Given the description of an element on the screen output the (x, y) to click on. 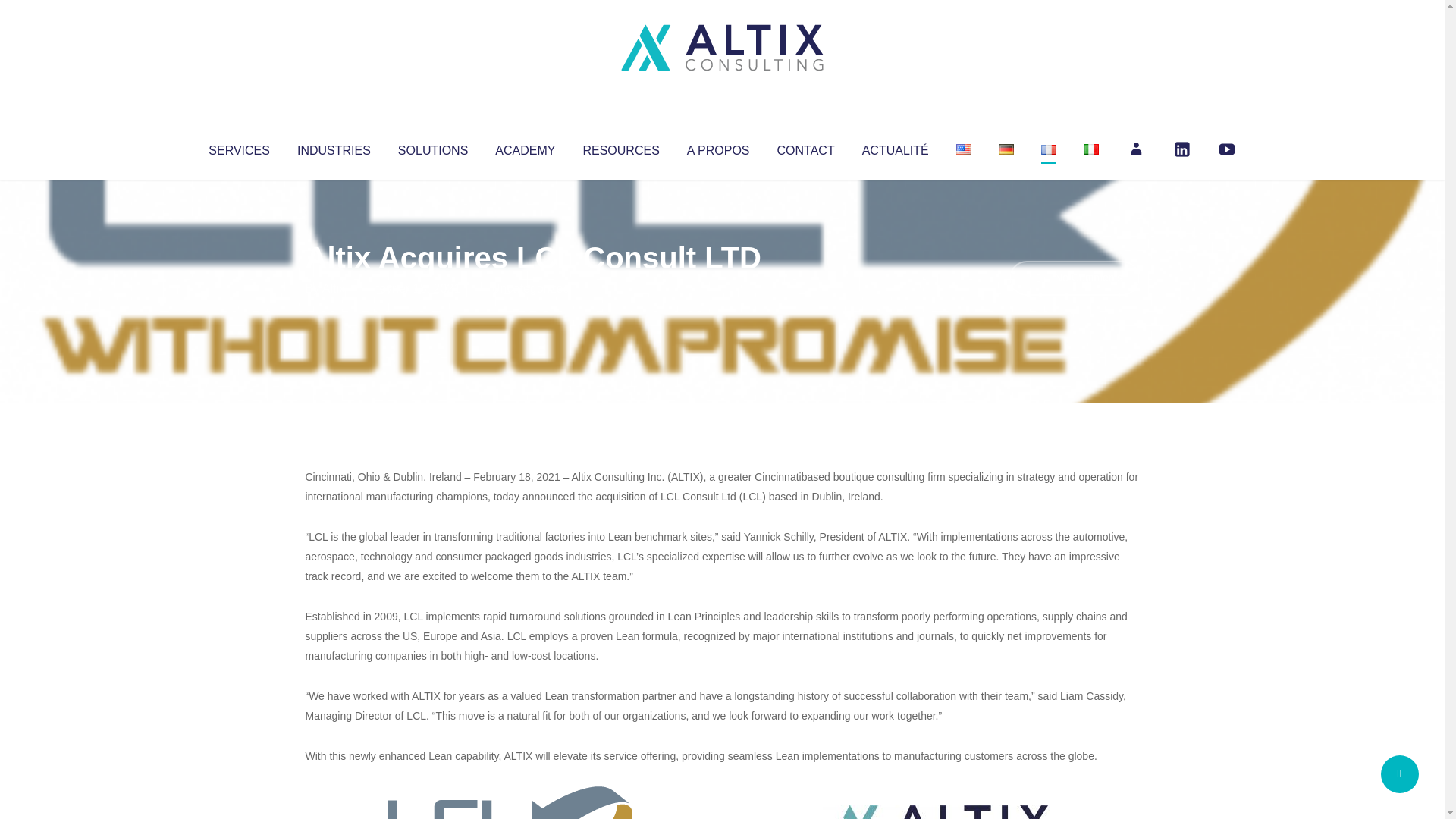
INDUSTRIES (334, 146)
SERVICES (238, 146)
A PROPOS (718, 146)
Uncategorized (530, 287)
RESOURCES (620, 146)
Articles par Altix (333, 287)
Altix (333, 287)
No Comments (1073, 278)
ACADEMY (524, 146)
SOLUTIONS (432, 146)
